Given the description of an element on the screen output the (x, y) to click on. 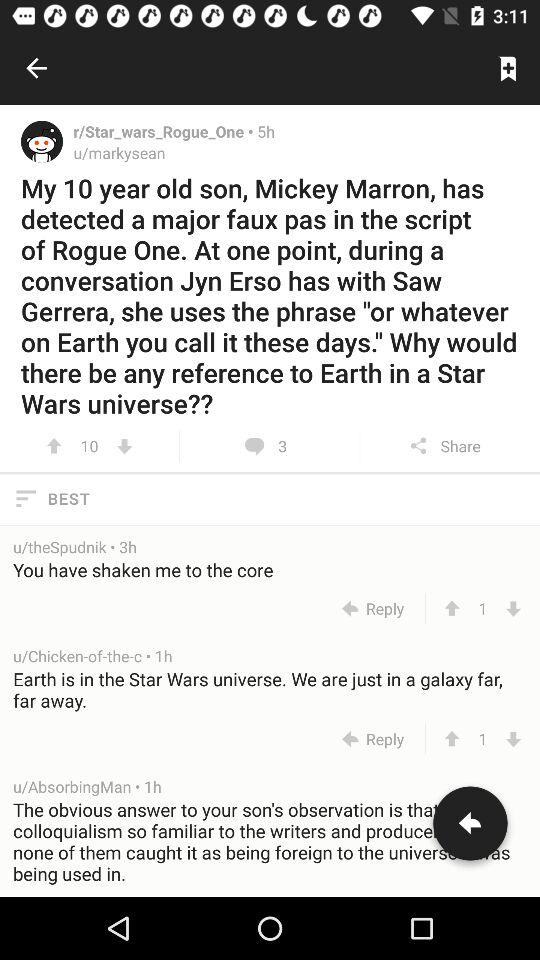
downvote this text (513, 738)
